Given the description of an element on the screen output the (x, y) to click on. 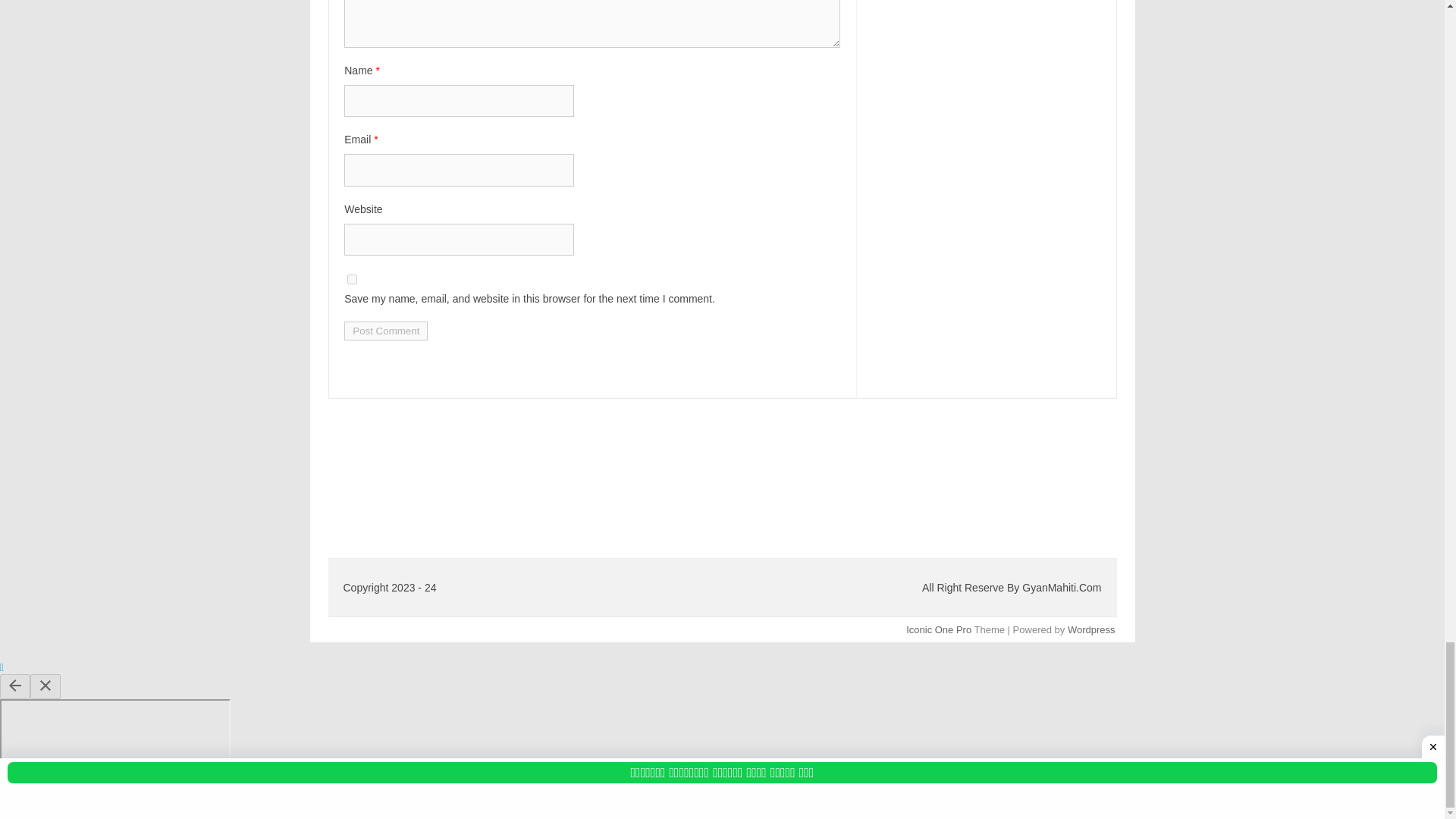
Post Comment (385, 330)
Post Comment (385, 330)
yes (351, 279)
